Given the description of an element on the screen output the (x, y) to click on. 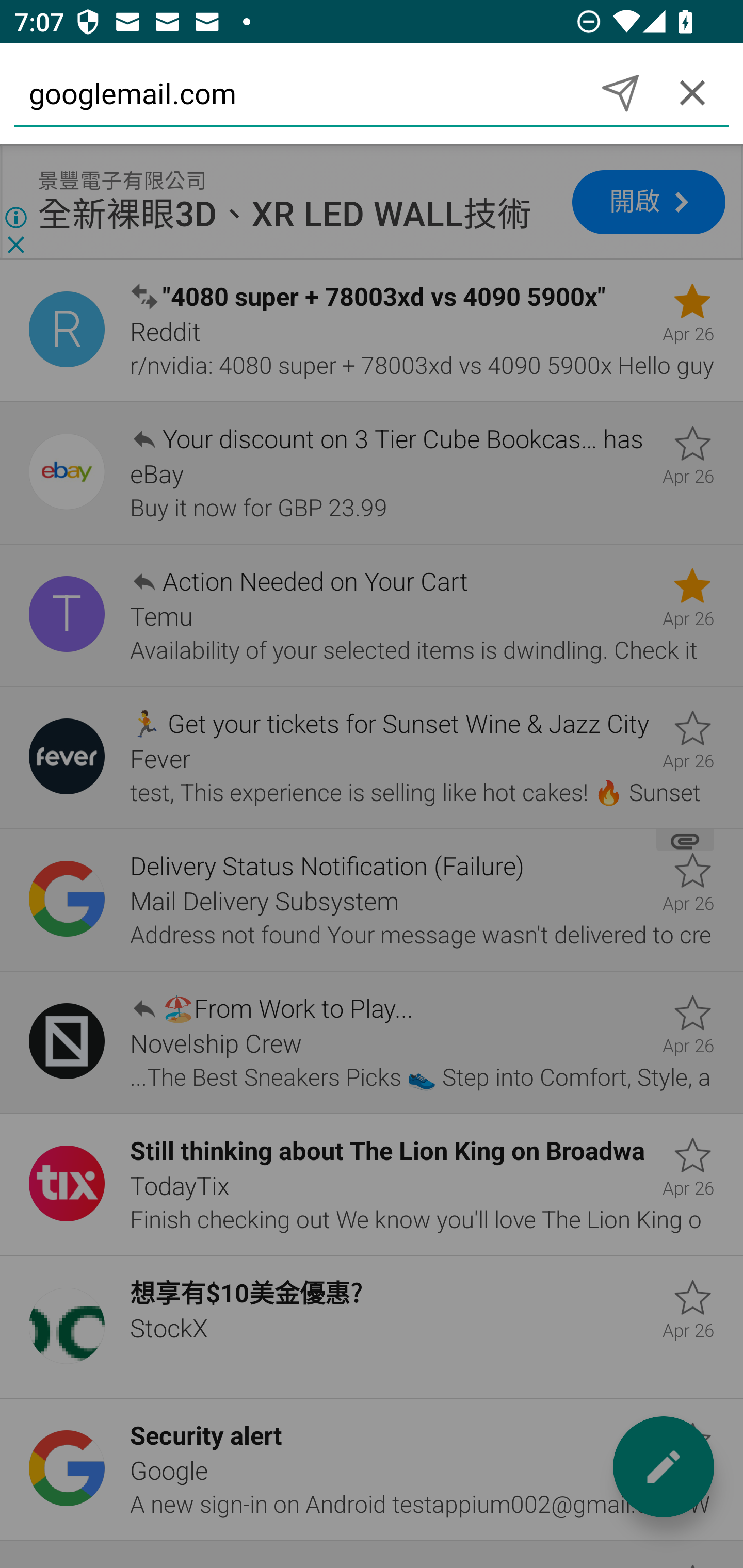
googlemail.com (298, 92)
Search sender only (619, 92)
Cancel (692, 92)
